Given the description of an element on the screen output the (x, y) to click on. 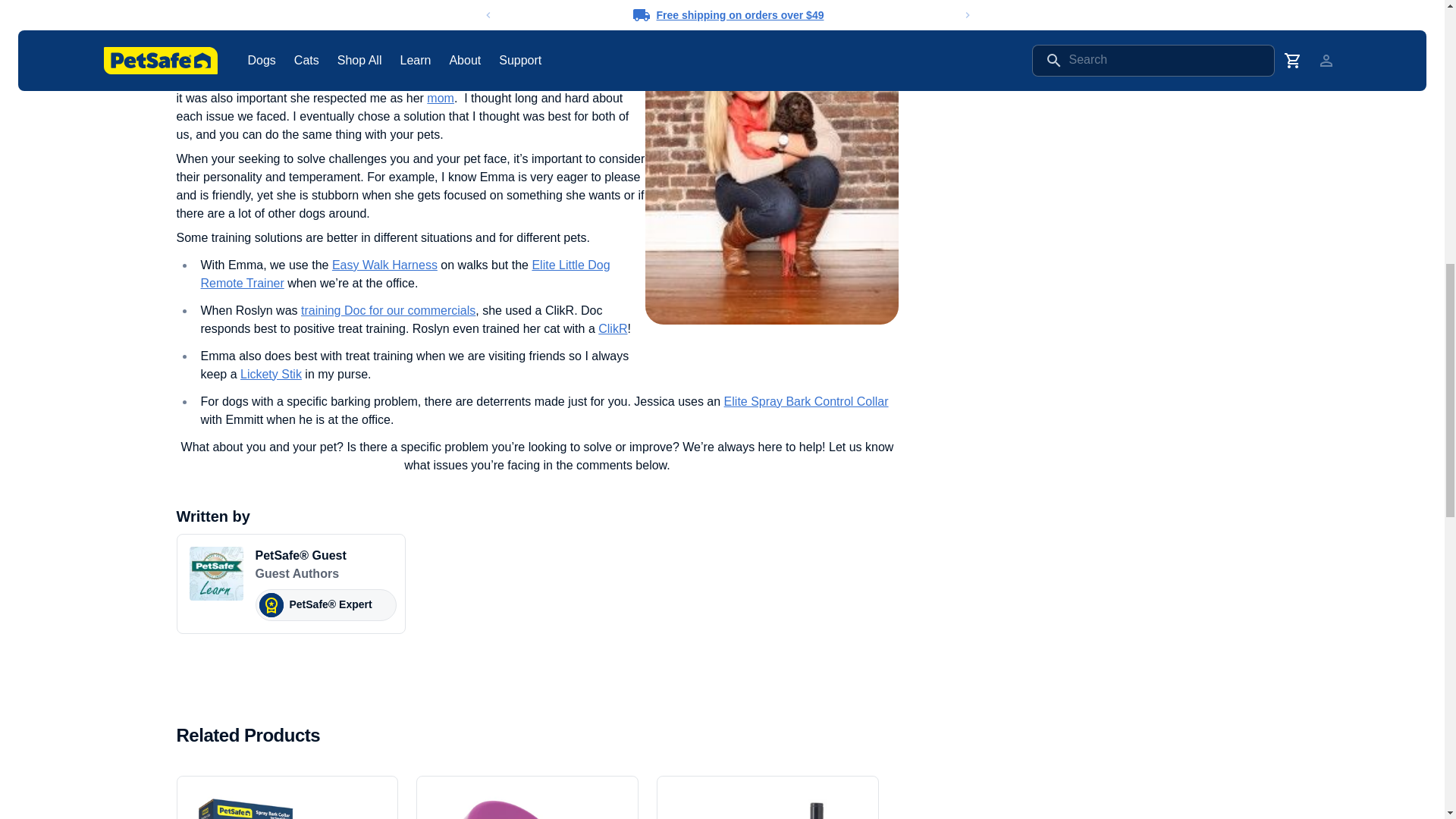
Elite Little Dog Remote Trainer (405, 273)
How does your dog learn? (500, 3)
PetSafe Easy Walk Harness (384, 264)
Easy Walk Harness (384, 264)
ClikR (612, 328)
Elite Spray Bark Control Collar (805, 400)
training Doc for our commercials (388, 309)
PetSafe Lickety Stik (270, 373)
learning curve (500, 3)
PetSafe Elite Little Dog Remote Trainer (405, 273)
